Given the description of an element on the screen output the (x, y) to click on. 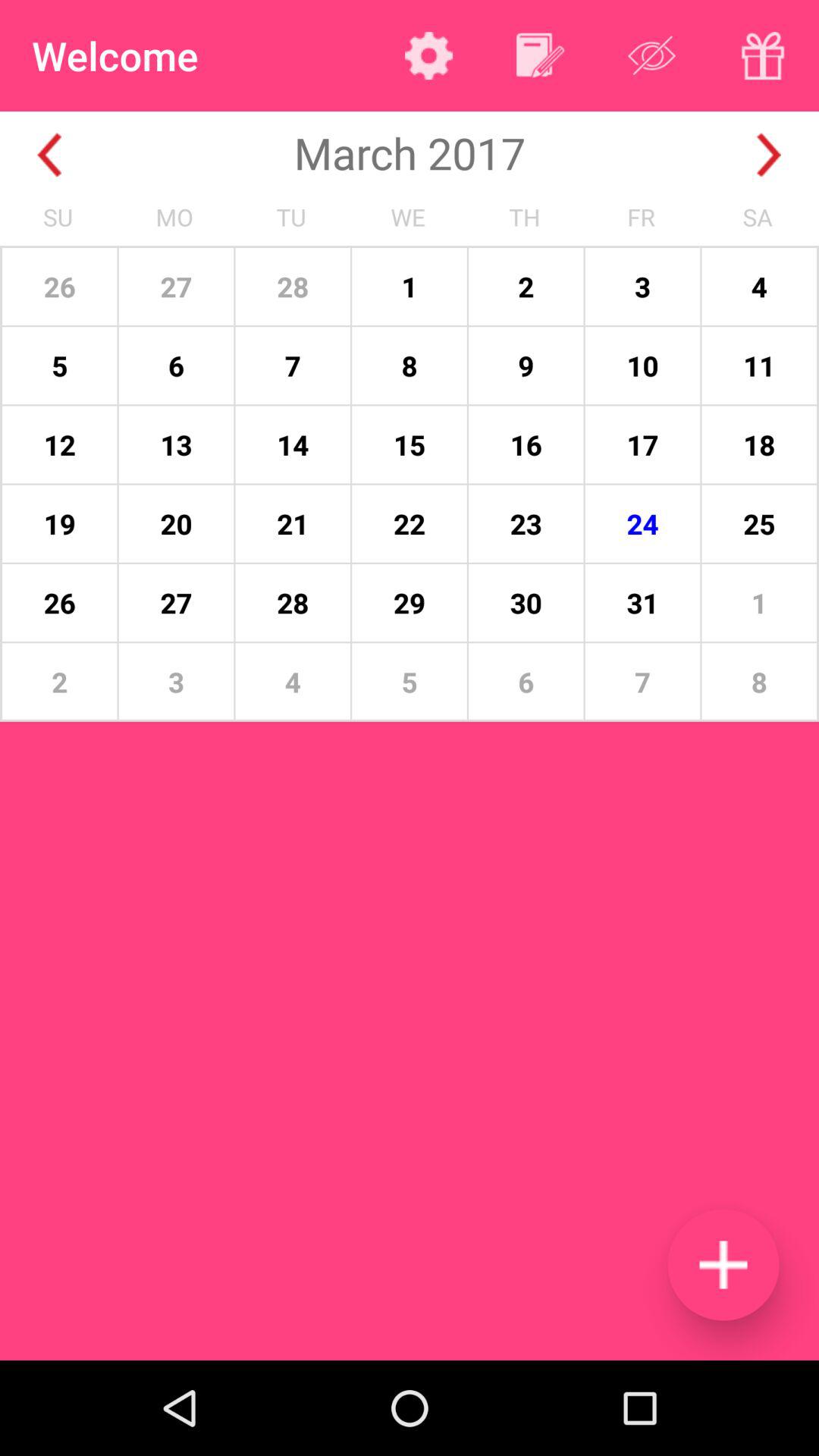
choose app to the right of the welcome app (428, 55)
